Given the description of an element on the screen output the (x, y) to click on. 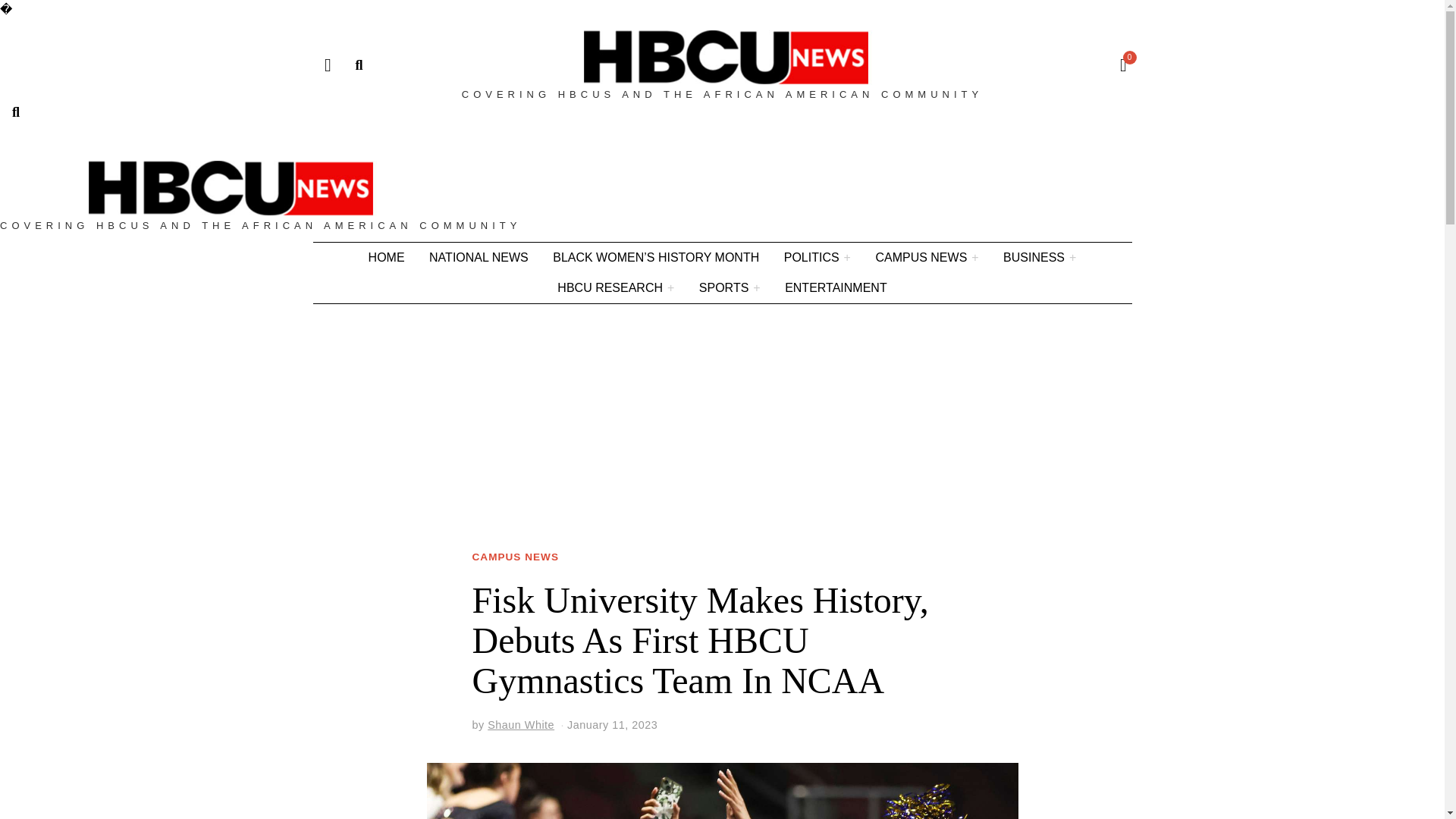
0 (1118, 64)
SPORTS (729, 287)
BUSINESS (1039, 257)
Shaun White (520, 725)
NATIONAL NEWS (478, 257)
HOME (386, 257)
POLITICS (817, 257)
CAMPUS NEWS (926, 257)
CAMPUS NEWS (514, 557)
ENTERTAINMENT (836, 287)
HBCU RESEARCH (615, 287)
